Given the description of an element on the screen output the (x, y) to click on. 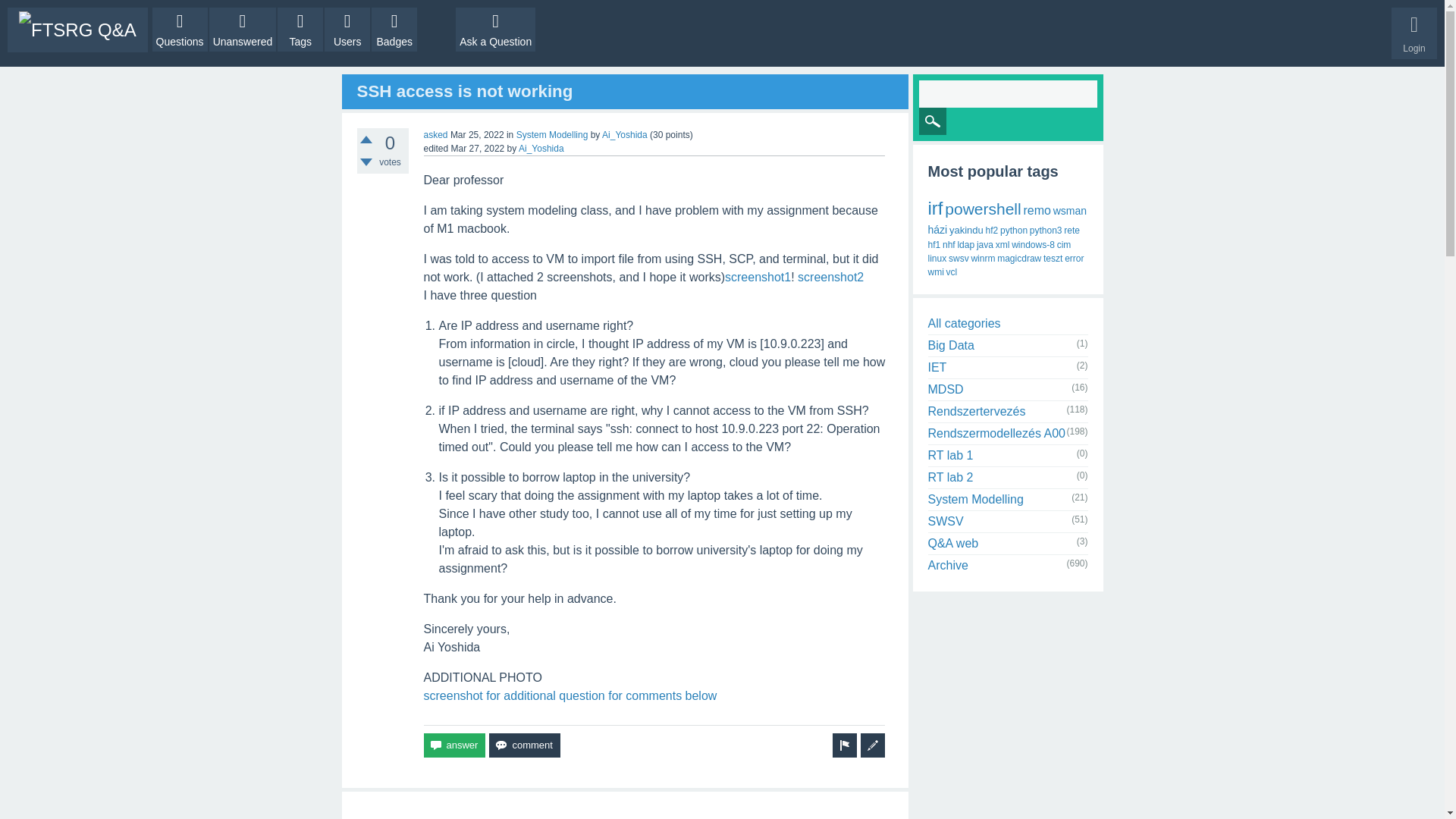
screenshot for additional question for comments below (569, 695)
Click to vote up (365, 139)
recategorize (872, 745)
Badges (393, 29)
flag (844, 745)
Add a comment on this question (524, 745)
comment (524, 745)
flag (844, 745)
Questions (180, 29)
System Modelling (552, 134)
Users (346, 29)
Tags (300, 29)
Unanswered (242, 29)
Click to vote down (365, 162)
screenshot1 (757, 277)
